Given the description of an element on the screen output the (x, y) to click on. 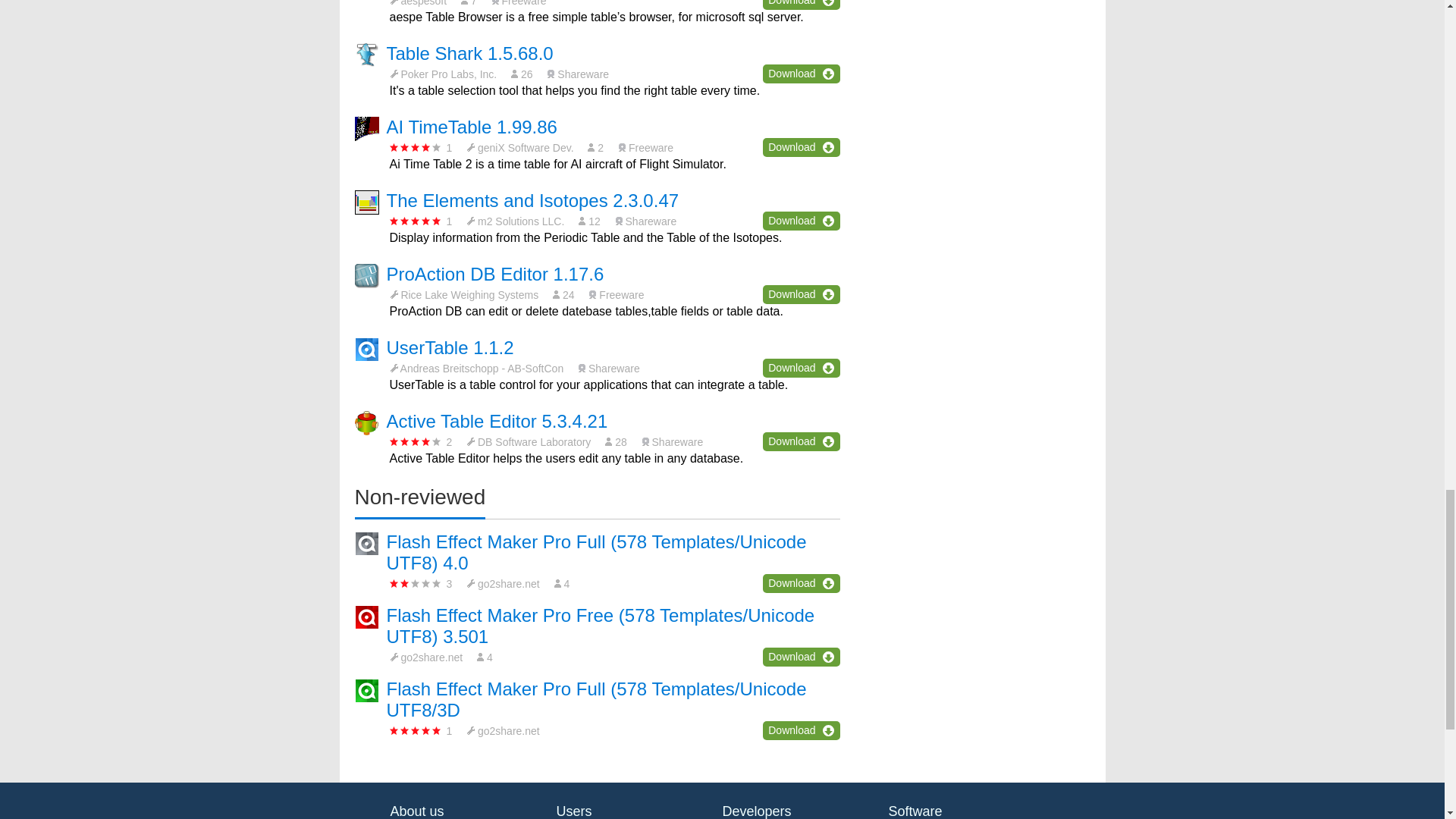
ProAction DB Editor 1.17.6 (495, 273)
AI TimeTable 1.99.86 (472, 127)
The Elements and Isotopes 2.3.0.47 (533, 200)
Download (801, 4)
Table Shark 1.5.68.0 (470, 53)
Download (801, 220)
Download (801, 73)
AI TimeTable 1.99.86 (472, 127)
Download (801, 147)
Table Shark 1.5.68.0 (470, 53)
Download (801, 294)
